Given the description of an element on the screen output the (x, y) to click on. 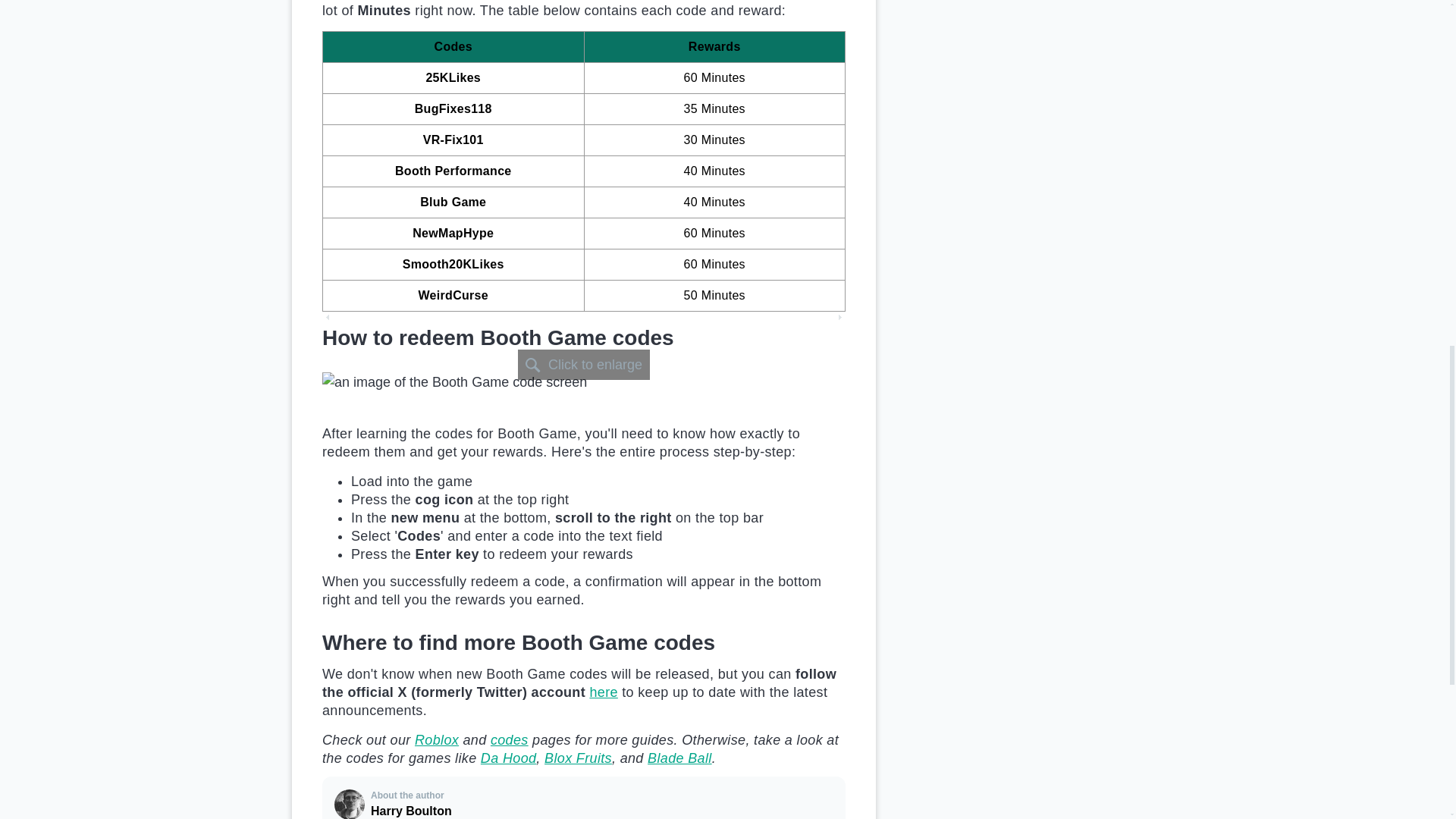
Codes (509, 739)
Da Hood codes to redeem in December 2023 for free cash (508, 758)
Harry Boulton (349, 804)
Blade Ball codes in December 2023, for free skins to coins (679, 758)
Roblox (436, 739)
